Given the description of an element on the screen output the (x, y) to click on. 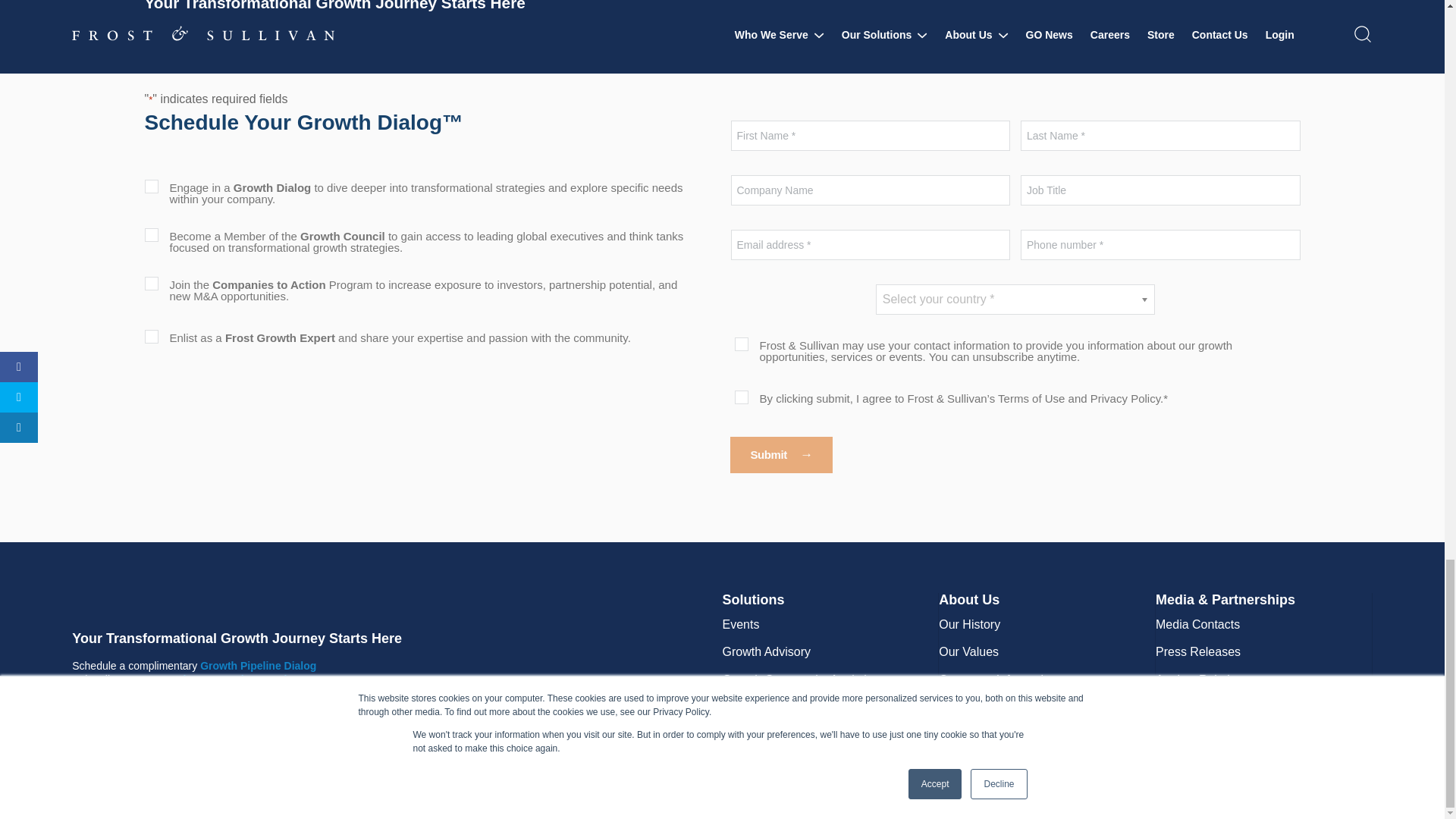
frostsullivanlogo (223, 601)
